Given the description of an element on the screen output the (x, y) to click on. 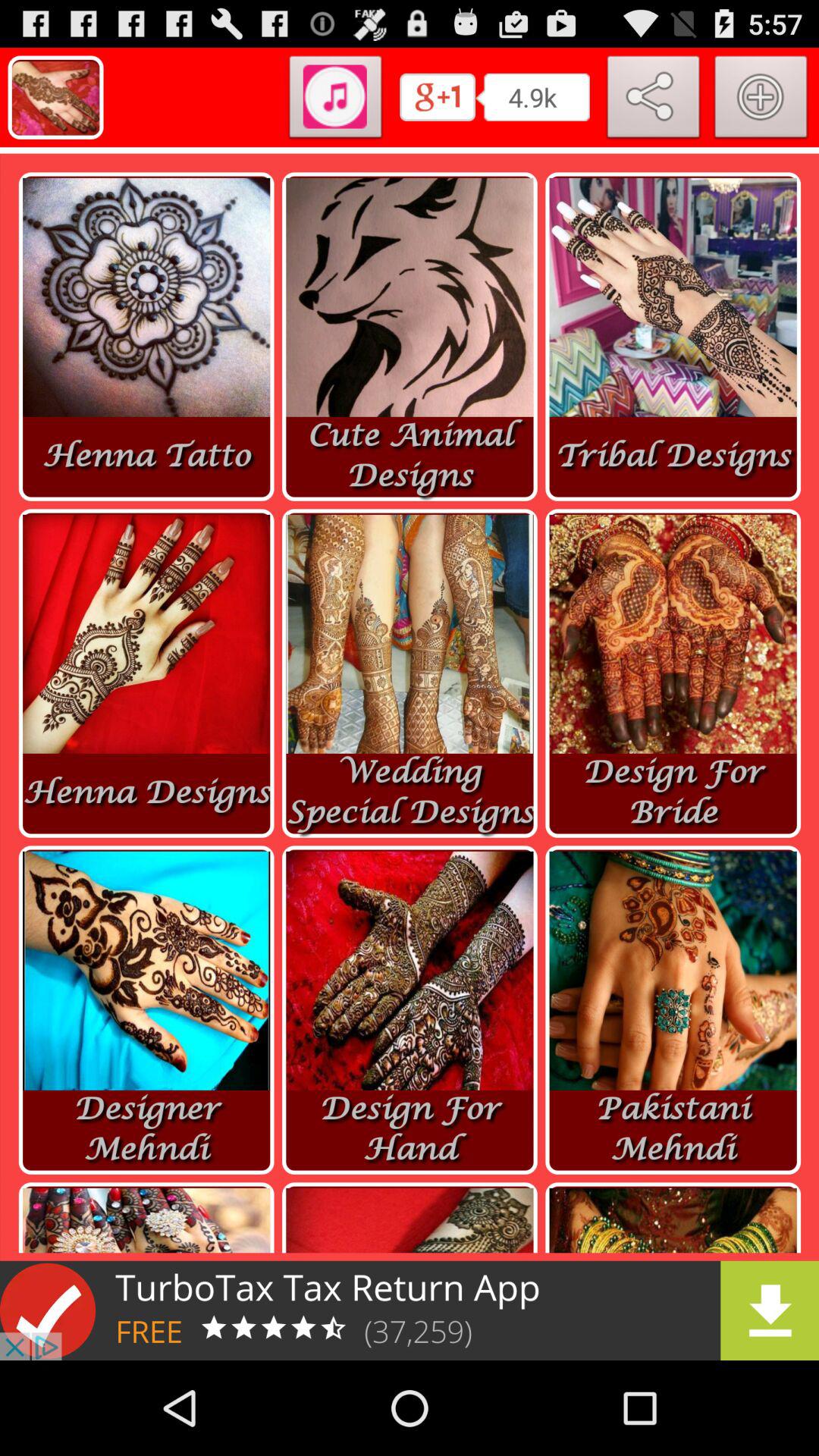
share (653, 100)
